Given the description of an element on the screen output the (x, y) to click on. 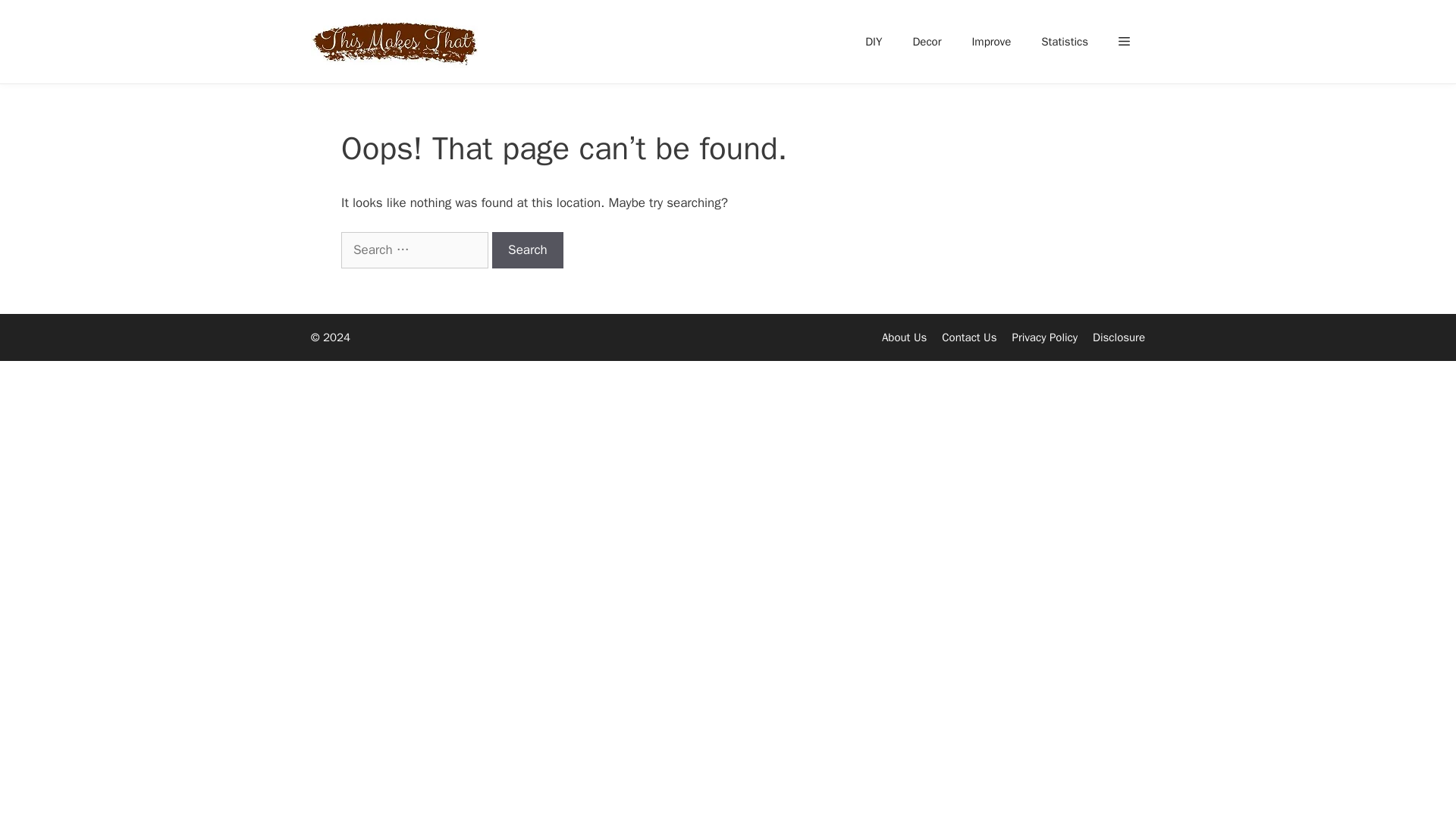
DIY (873, 41)
Contact Us (968, 336)
Search for: (413, 249)
About Us (904, 336)
Search (527, 249)
Search (527, 249)
Privacy Policy (1044, 336)
Decor (926, 41)
Disclosure (1118, 336)
This Makes That (394, 41)
This Makes That (397, 41)
Search (527, 249)
Improve (991, 41)
Statistics (1064, 41)
